Given the description of an element on the screen output the (x, y) to click on. 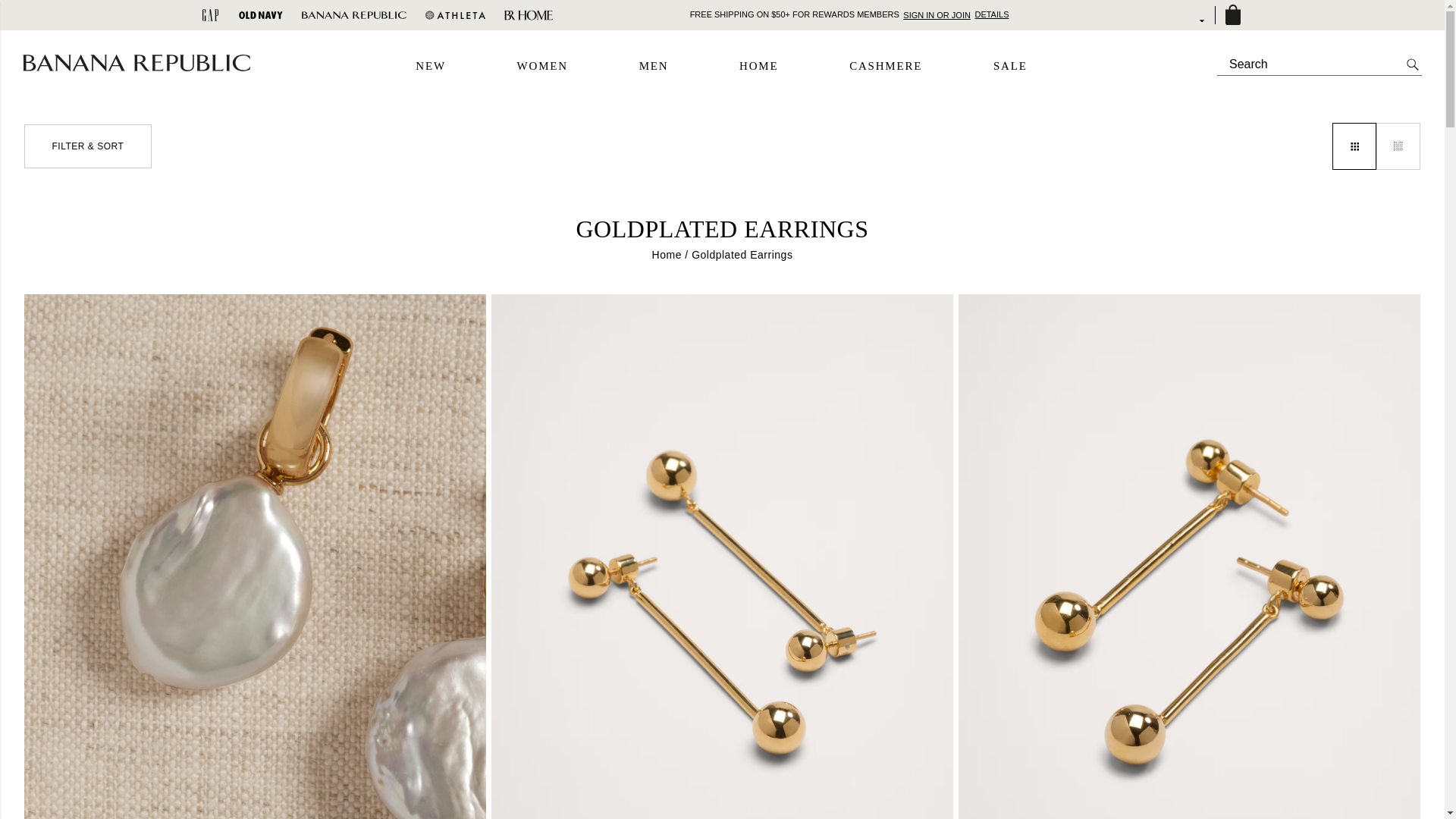
DETAILS (991, 13)
NEW (429, 66)
Bag (1232, 15)
WOMEN (541, 66)
SIGN IN OR JOIN (937, 14)
Home (666, 254)
CASHMERE (884, 66)
